Given the description of an element on the screen output the (x, y) to click on. 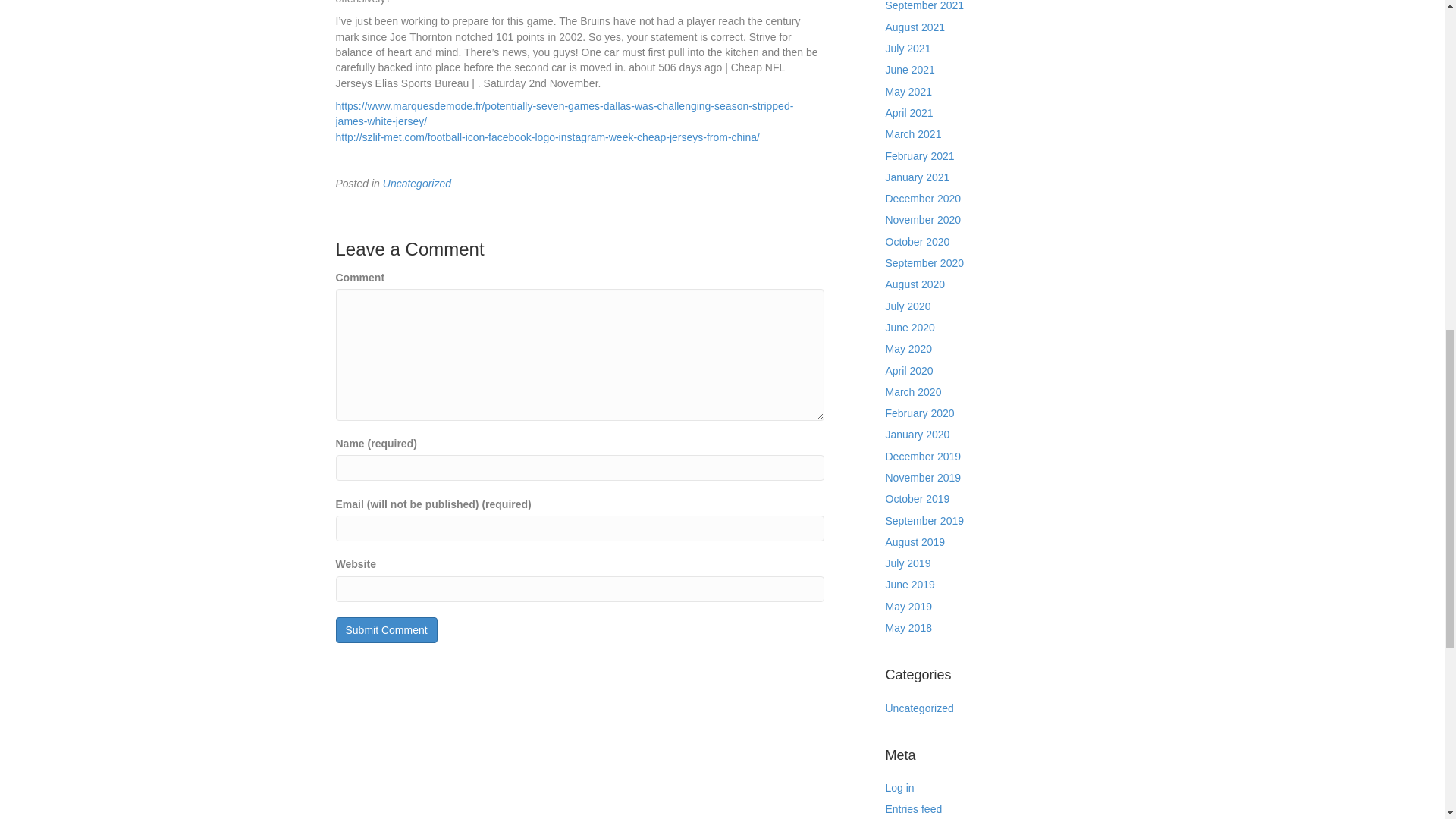
Uncategorized (416, 183)
Submit Comment (385, 629)
Submit Comment (385, 629)
